Given the description of an element on the screen output the (x, y) to click on. 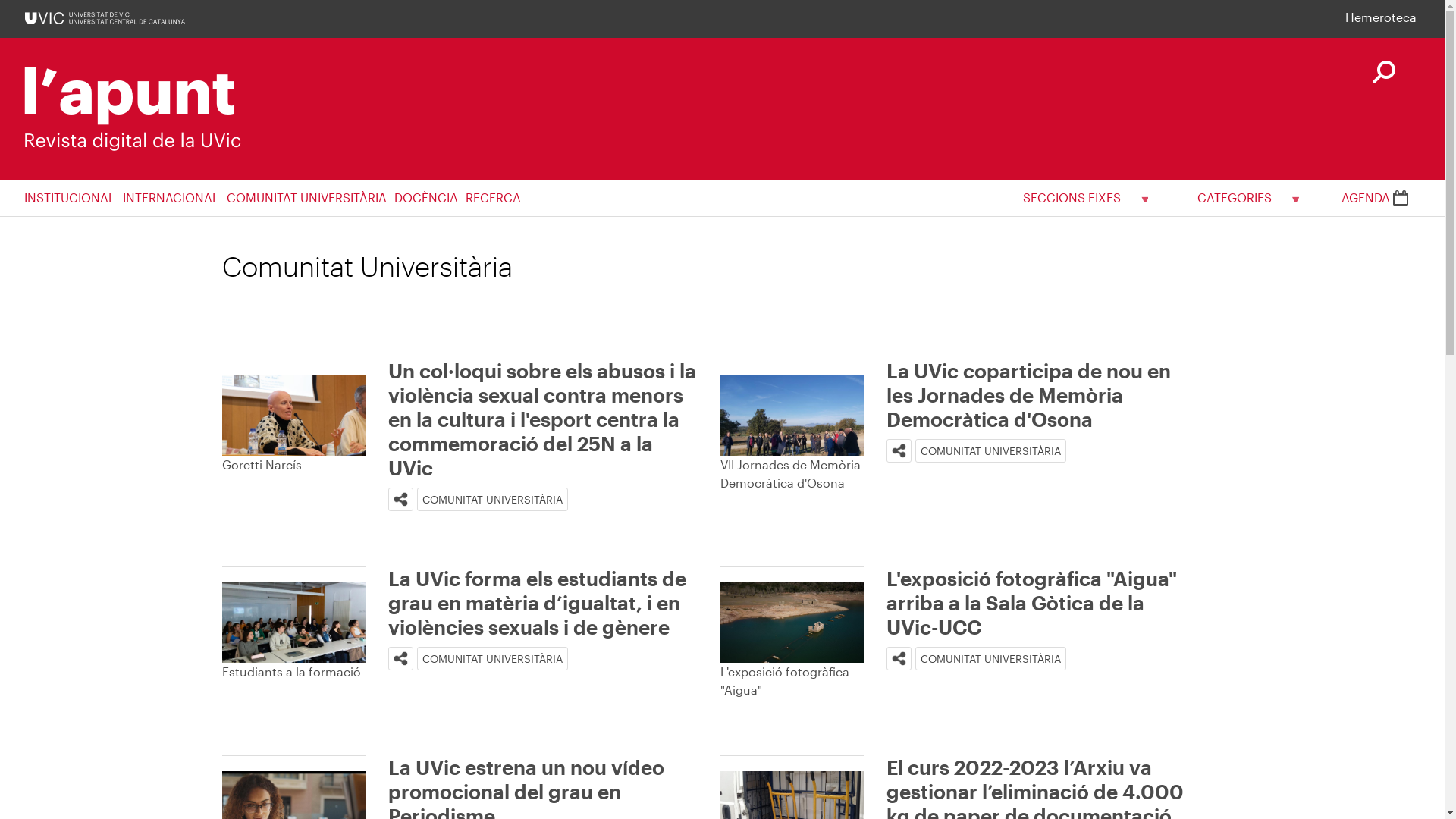
INTERNACIONAL Element type: text (174, 197)
www.uvic.cat Element type: hover (104, 17)
Previous Element type: text (720, 510)
Previous Element type: text (221, 717)
INSTITUCIONAL Element type: text (73, 197)
Hemeroteca Element type: text (1380, 16)
Previous Element type: text (221, 528)
AGENDA Element type: text (1374, 197)
Skip to main content Element type: text (0, 0)
RECERCA Element type: text (496, 197)
